Given the description of an element on the screen output the (x, y) to click on. 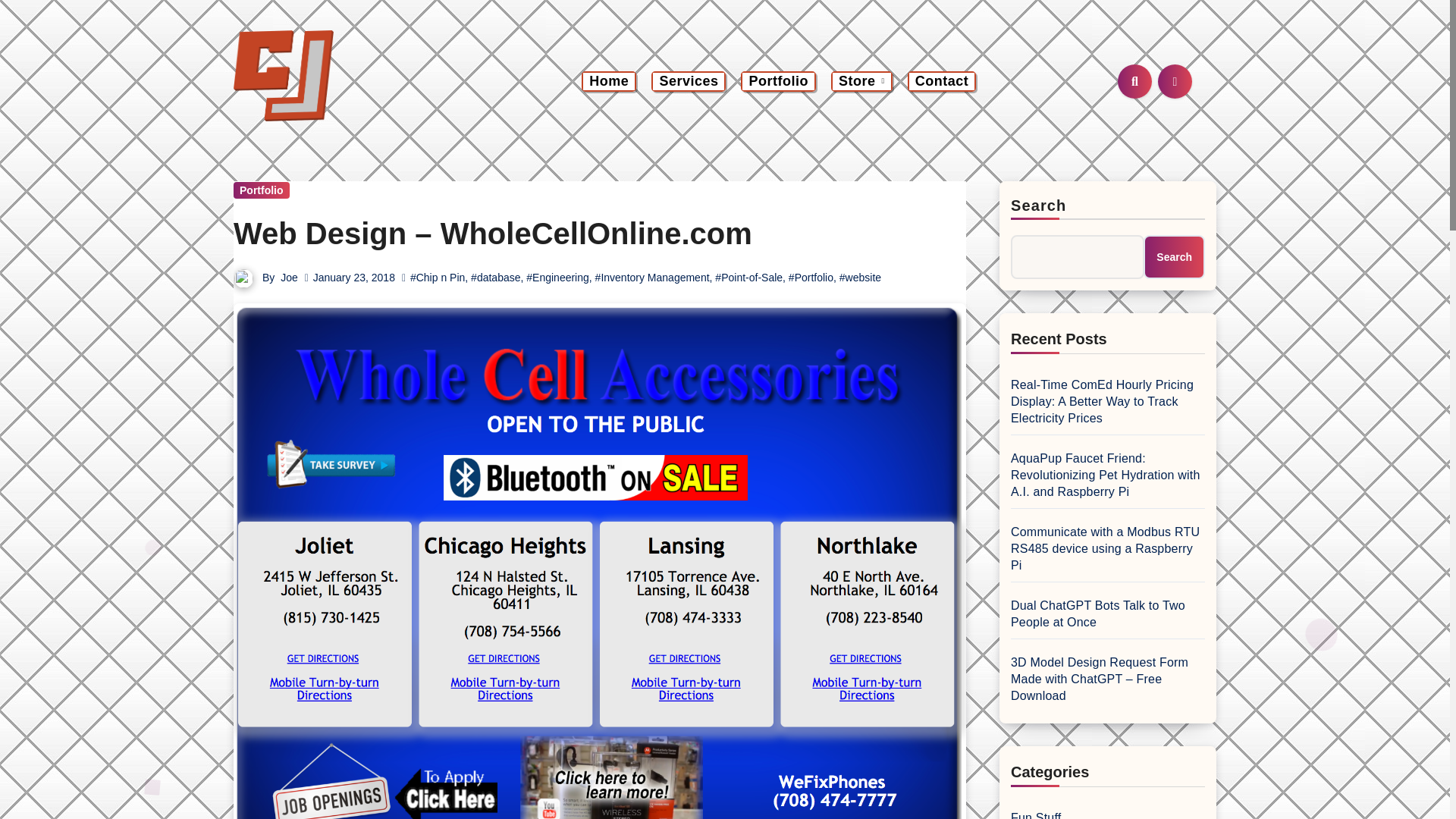
Portfolio (260, 190)
Portfolio (777, 81)
Services (687, 81)
Contact (941, 81)
Services (687, 81)
Contact (941, 81)
Joe (289, 277)
Store (861, 81)
Portfolio (777, 81)
January 23, 2018 (353, 277)
Home (608, 81)
Store (861, 81)
Home (608, 81)
